Given the description of an element on the screen output the (x, y) to click on. 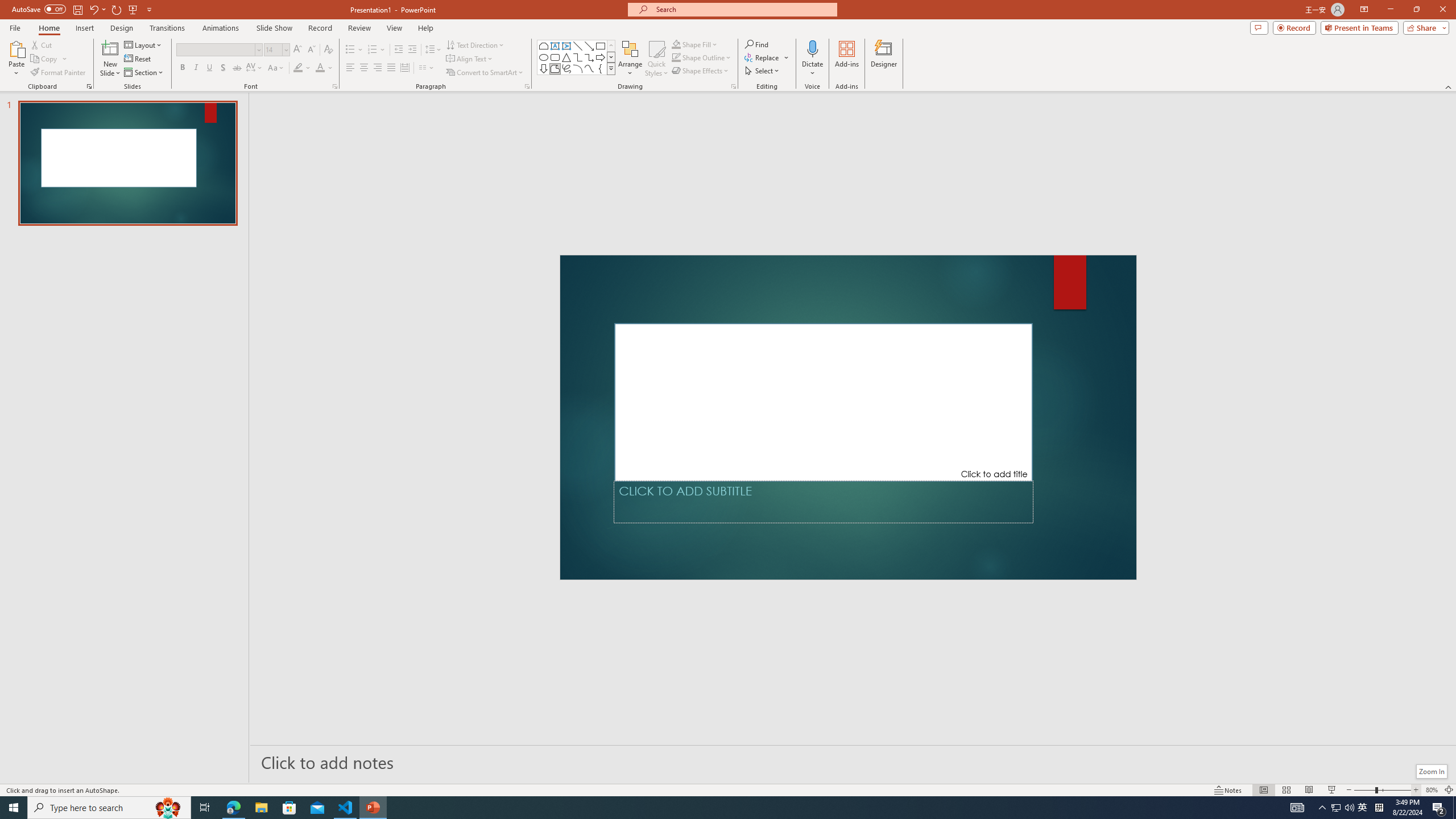
Rectangle: Top Corners Snipped (543, 45)
Zoom 80% (1431, 790)
